Given the description of an element on the screen output the (x, y) to click on. 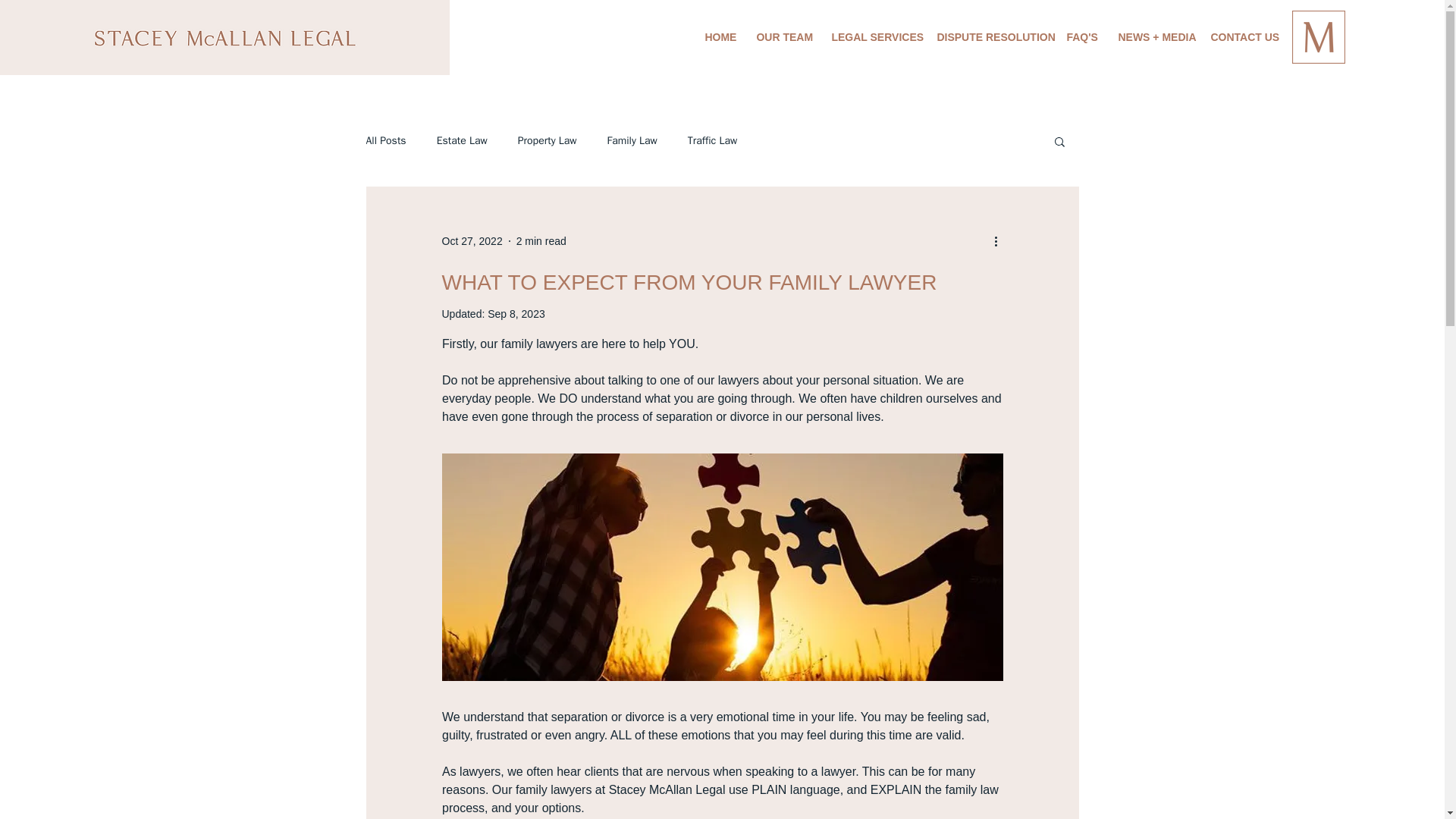
Property Law (547, 141)
LEGAL SERVICES (871, 37)
DISPUTE RESOLUTION (989, 37)
Traffic Law (711, 141)
All Posts (385, 141)
Family Law (632, 141)
Oct 27, 2022 (471, 241)
CONTACT US (1241, 37)
OUR TEAM (781, 37)
FAQ'S (1080, 37)
HOME (718, 37)
Estate Law (461, 141)
2 min read (541, 241)
Sep 8, 2023 (515, 313)
